Given the description of an element on the screen output the (x, y) to click on. 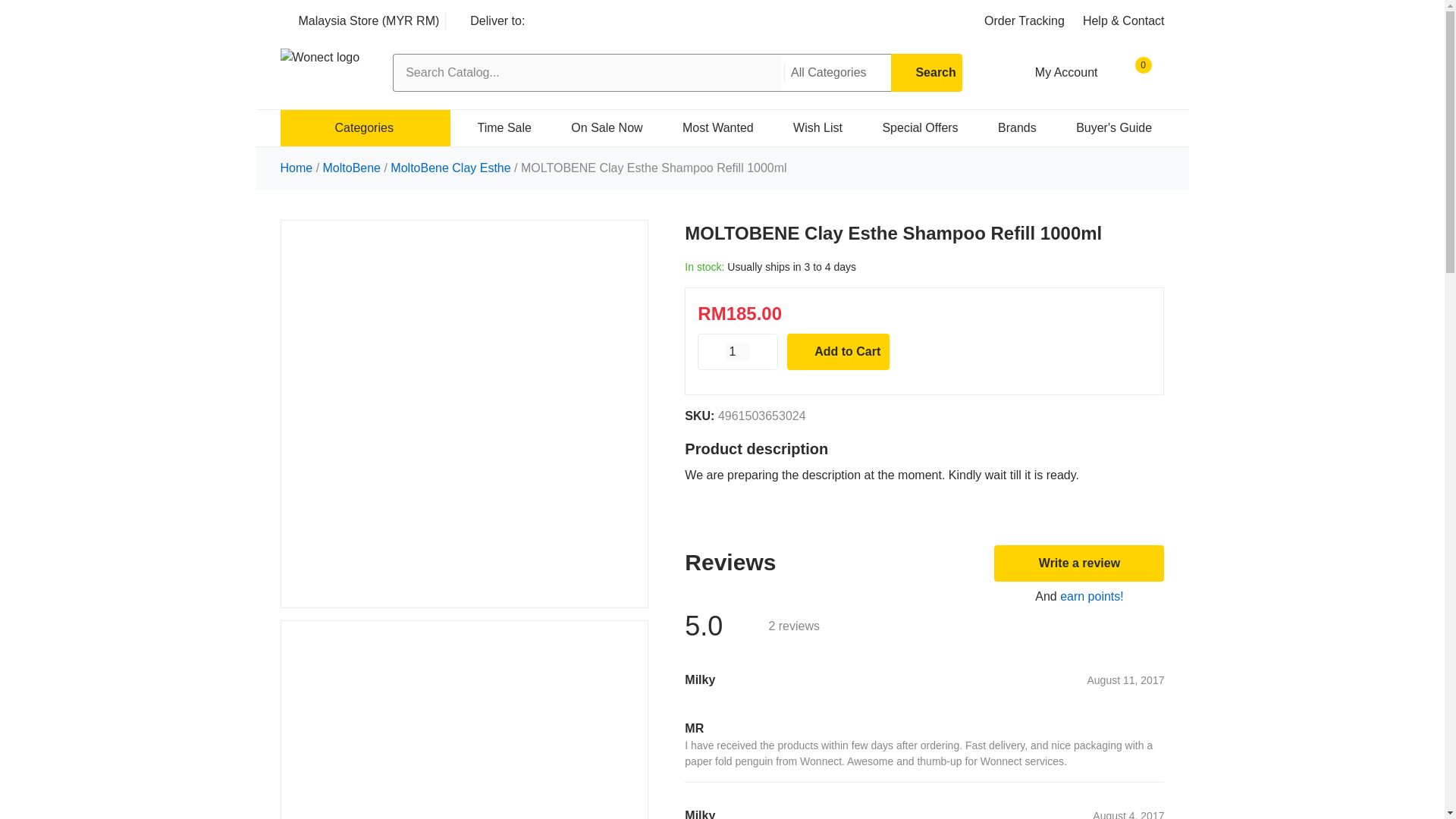
Brands (1009, 127)
Search (926, 72)
Write a review (1078, 563)
Wish List (809, 127)
On Sale Now (599, 127)
Home (298, 167)
0 (1133, 72)
Time Sale (496, 127)
Help and Contact (1114, 21)
Most Wanted (710, 127)
